Given the description of an element on the screen output the (x, y) to click on. 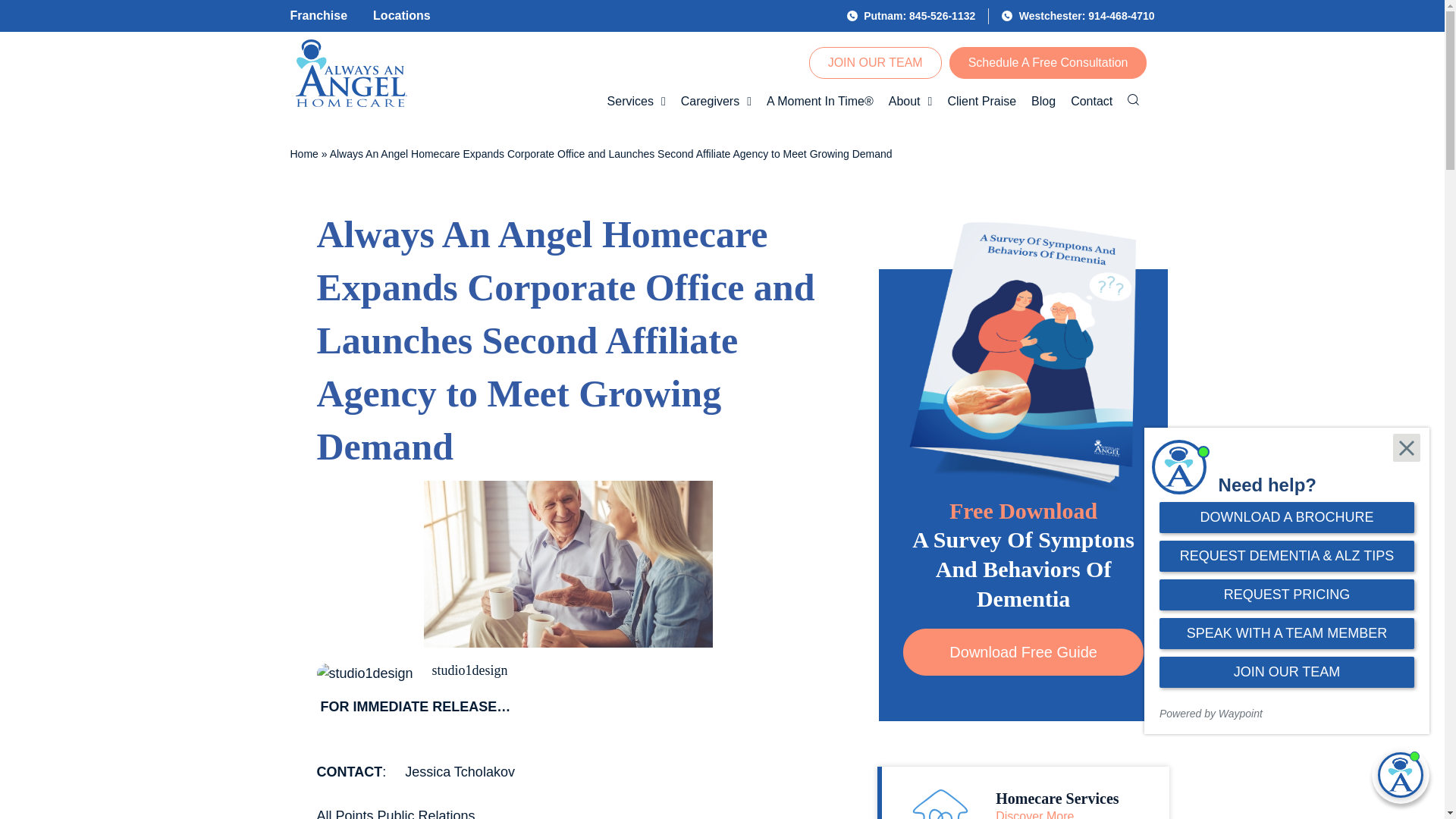
Putnam: 845-526-1132 (911, 15)
Locations (401, 15)
Caregivers (715, 101)
Client Praise (981, 101)
About (910, 101)
Schedule A Free Consultation (1048, 62)
Contact (1090, 101)
iframe (1286, 580)
Blog (1042, 101)
Westchester: 914-468-4710 (1077, 15)
JOIN OUR TEAM (875, 62)
Franchise (318, 15)
Services (635, 101)
